Given the description of an element on the screen output the (x, y) to click on. 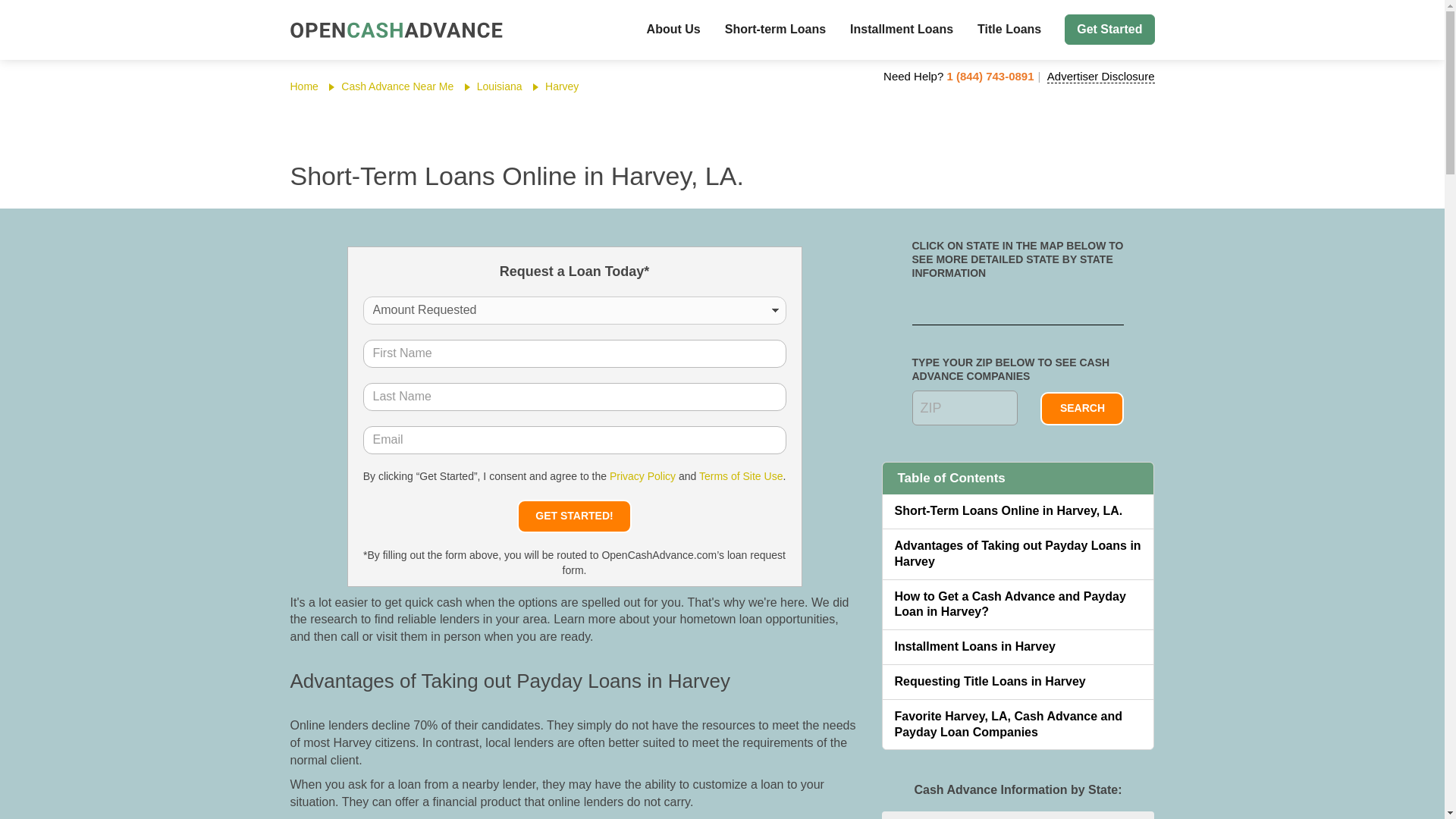
Title Loans (1008, 29)
Installment Loans (901, 29)
Search (1082, 408)
Advertiser Disclosure (1100, 76)
Get Started! (573, 516)
Home (303, 86)
Requesting Title Loans in Harvey (1018, 682)
Home (303, 86)
Short-Term Loans Online in Harvey, LA. (1018, 511)
Advantages of Taking out Payday Loans in Harvey (1018, 554)
About Us (673, 29)
Terms of Site Use (740, 476)
Short-term Loans (775, 29)
Cash Advance Near Me (396, 86)
Harvey (561, 86)
